Given the description of an element on the screen output the (x, y) to click on. 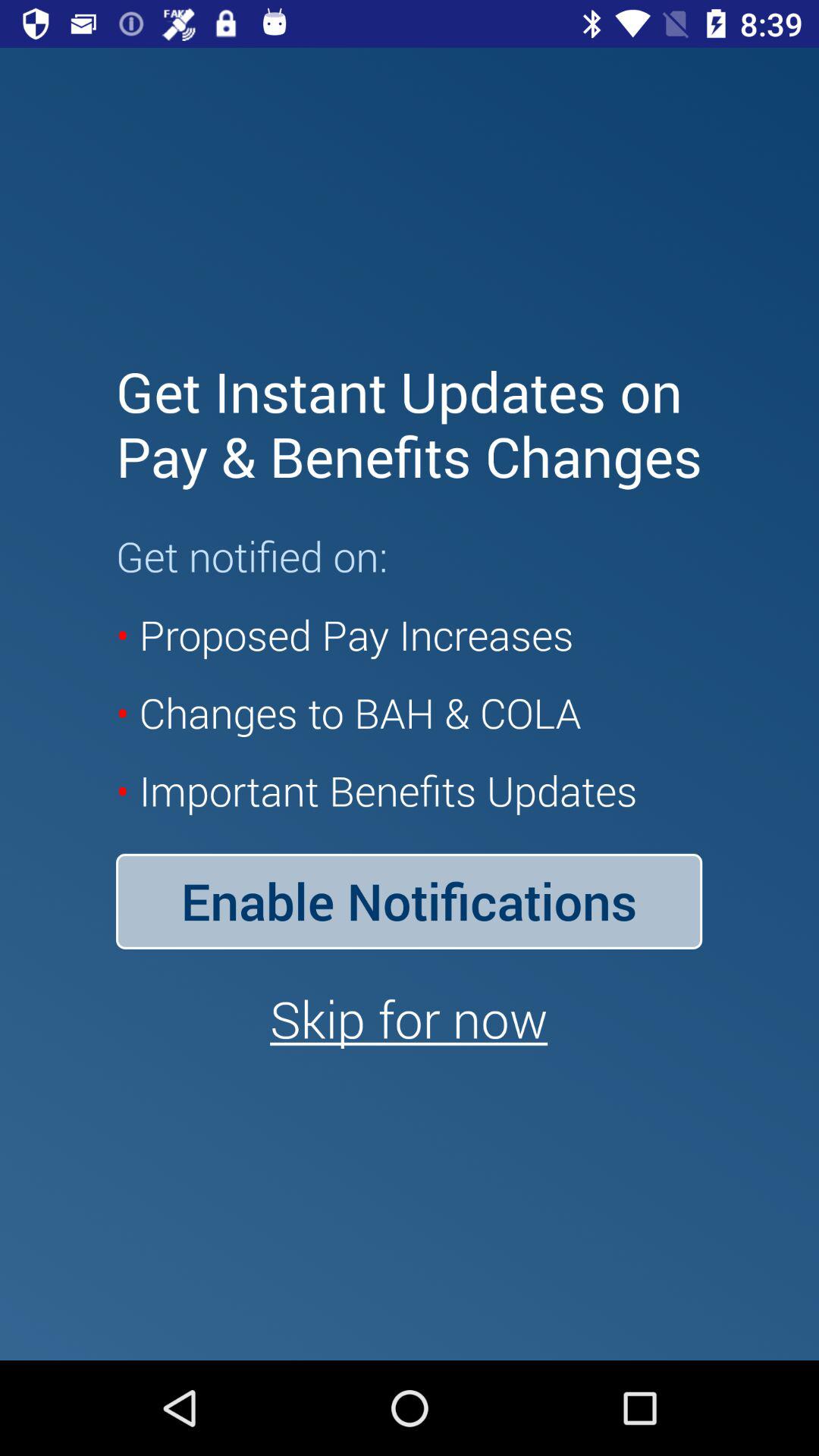
open the skip for now item (409, 1018)
